Given the description of an element on the screen output the (x, y) to click on. 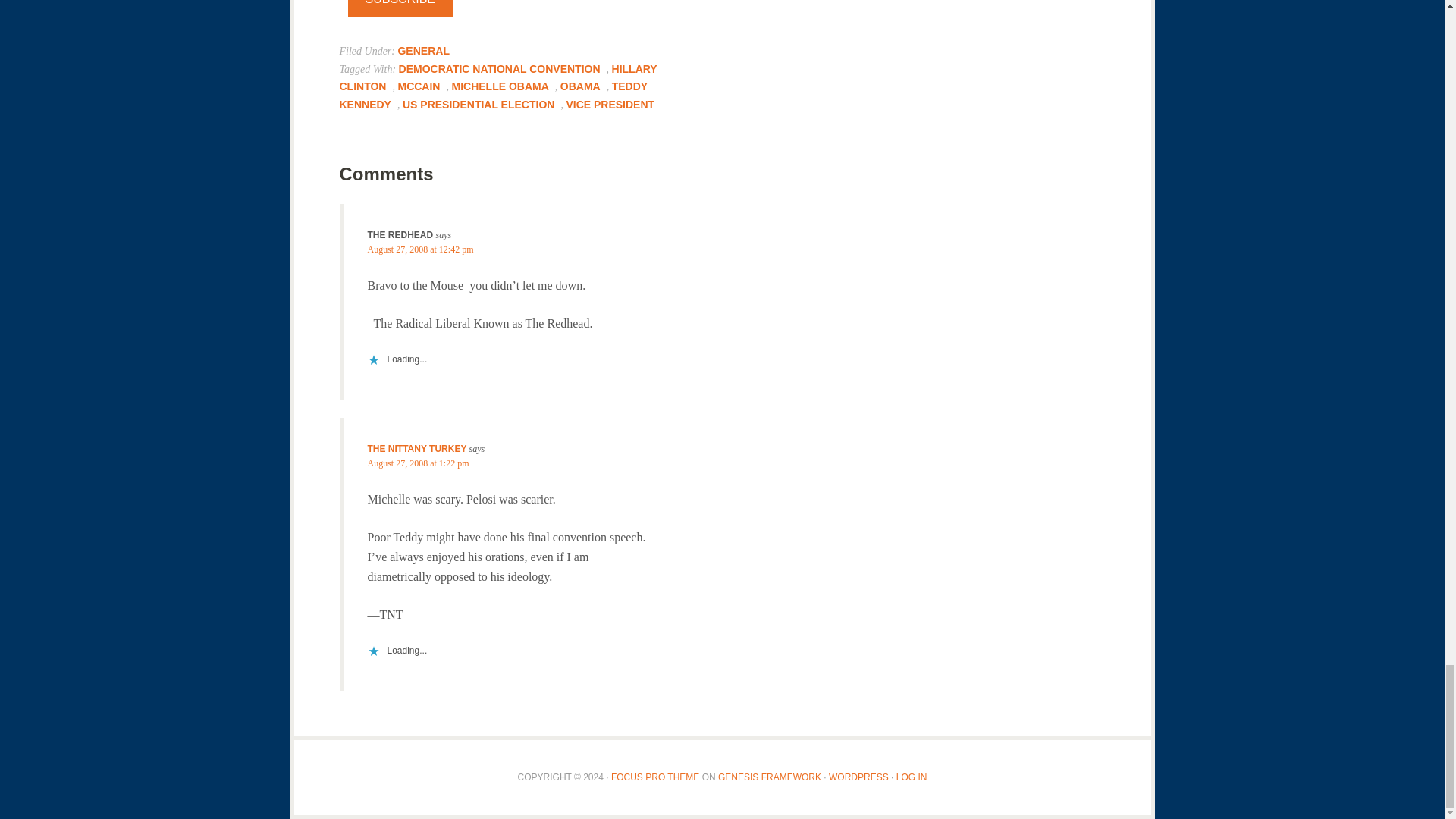
August 27, 2008 at 1:22 pm (417, 462)
DEMOCRATIC NATIONAL CONVENTION (498, 68)
SUBSCRIBE (399, 9)
VICE PRESIDENT (609, 104)
MCCAIN (418, 86)
MICHELLE OBAMA (499, 86)
August 27, 2008 at 12:42 pm (419, 249)
HILLARY CLINTON (498, 77)
US PRESIDENTIAL ELECTION (478, 104)
OBAMA (579, 86)
TEDDY KENNEDY (493, 95)
GENERAL (422, 50)
THE NITTANY TURKEY (415, 448)
